Given the description of an element on the screen output the (x, y) to click on. 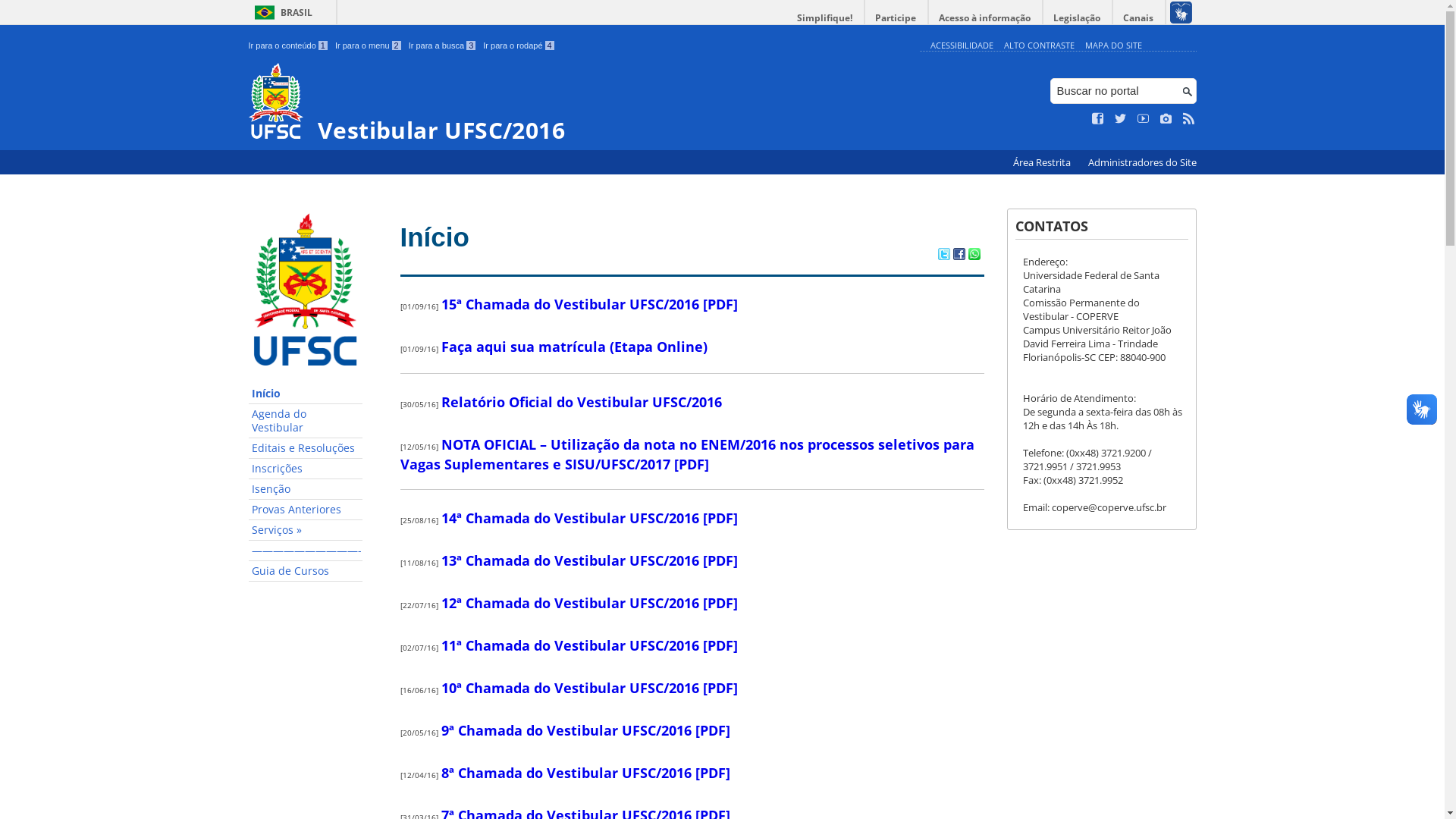
Canais Element type: text (1138, 18)
Ir para a busca 3 Element type: text (442, 45)
Ir para o menu 2 Element type: text (368, 45)
Provas Anteriores Element type: text (305, 509)
ALTO CONTRASTE Element type: text (1039, 44)
Curta no Facebook Element type: hover (1098, 118)
BRASIL Element type: text (280, 12)
Siga no Twitter Element type: hover (1120, 118)
Participe Element type: text (895, 18)
ACESSIBILIDADE Element type: text (960, 44)
Veja no Instagram Element type: hover (1166, 118)
Compartilhar no WhatsApp Element type: hover (973, 255)
Administradores do Site Element type: text (1141, 162)
Agenda do Vestibular Element type: text (305, 421)
MAPA DO SITE Element type: text (1112, 44)
Compartilhar no Facebook Element type: hover (958, 255)
Guia de Cursos Element type: text (305, 571)
Compartilhar no Twitter Element type: hover (943, 255)
Simplifique! Element type: text (825, 18)
Vestibular UFSC/2016 Element type: text (580, 102)
